Given the description of an element on the screen output the (x, y) to click on. 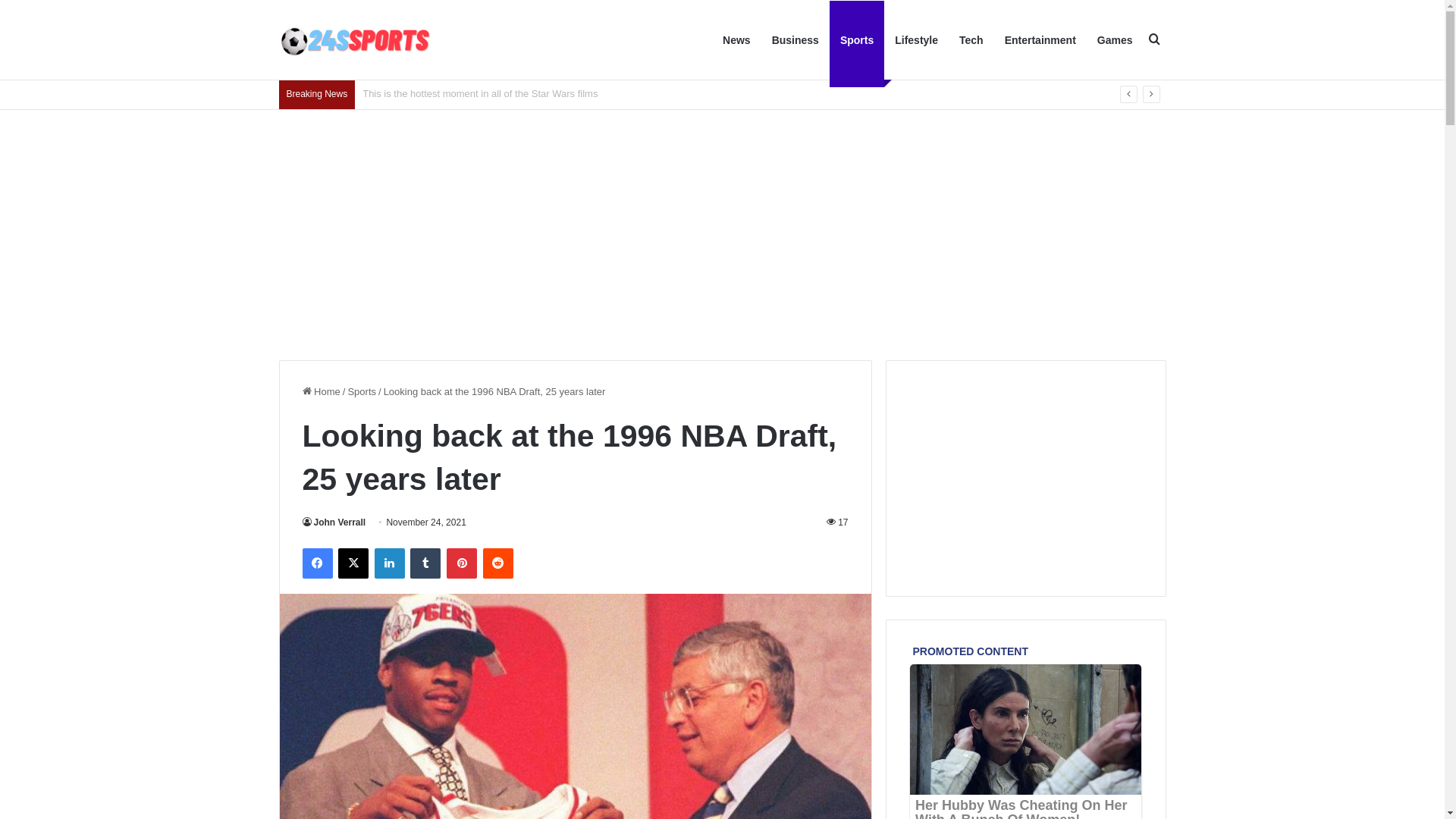
This is the hottest moment in all of the Star Wars films Element type: text (479, 93)
Home Element type: text (320, 391)
Facebook Element type: text (316, 563)
Tech Element type: text (971, 39)
Sports Element type: text (361, 391)
Reddit Element type: text (498, 563)
Search for Element type: text (1154, 39)
Tumblr Element type: text (425, 563)
John Verrall Element type: text (333, 522)
LinkedIn Element type: text (389, 563)
Games Element type: text (1114, 39)
Advertisement Element type: hover (1025, 478)
Pinterest Element type: text (461, 563)
Entertainment Element type: text (1040, 39)
X Element type: text (353, 563)
News Element type: text (736, 39)
Business Element type: text (795, 39)
Advertisement Element type: hover (721, 231)
24ssports Element type: hover (354, 40)
Lifestyle Element type: text (916, 39)
Sports Element type: text (856, 39)
